Given the description of an element on the screen output the (x, y) to click on. 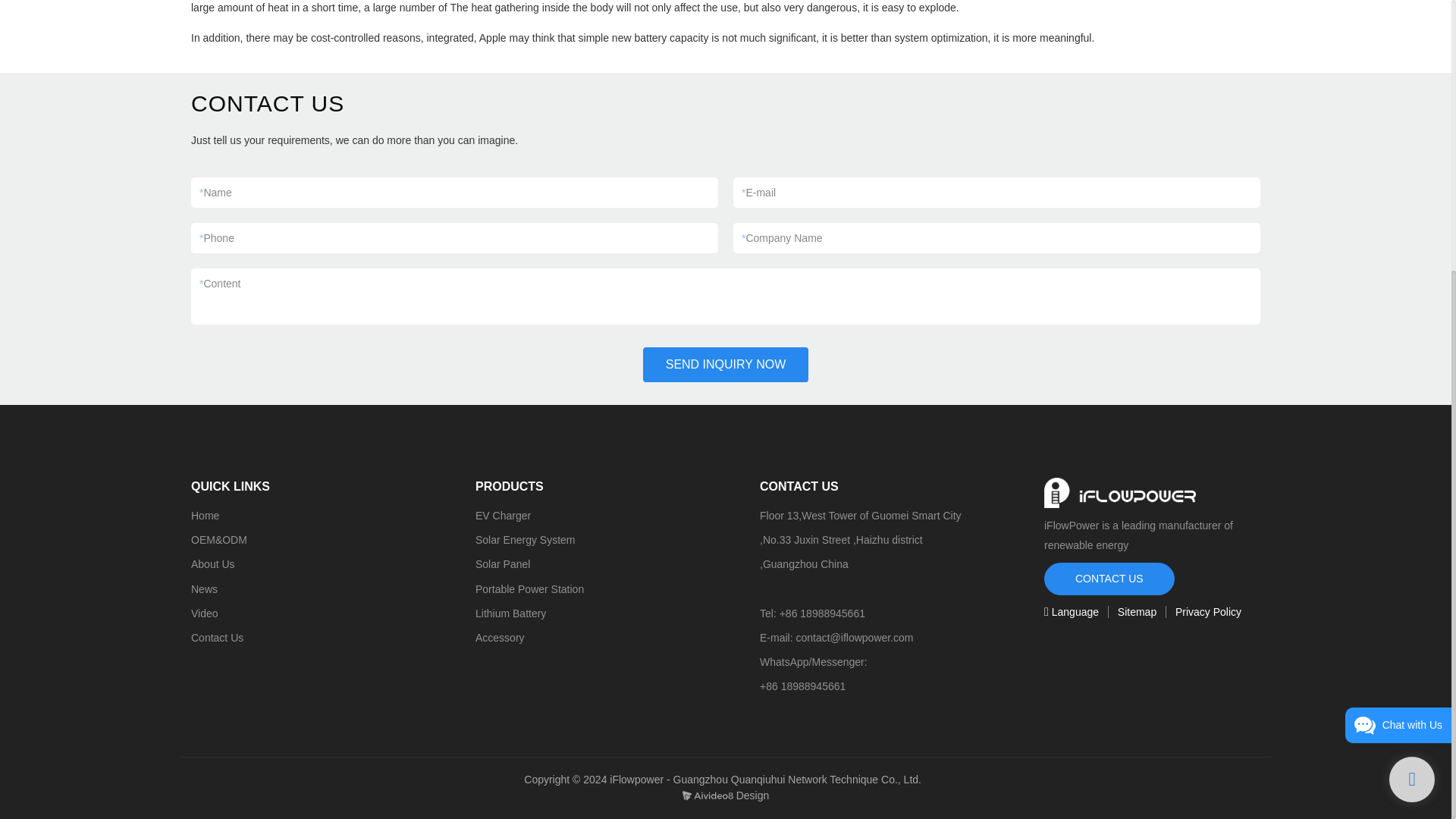
About Us (212, 563)
Contact Us (216, 637)
News (203, 589)
SEND INQUIRY NOW (726, 364)
Video (204, 613)
Home (204, 515)
